Given the description of an element on the screen output the (x, y) to click on. 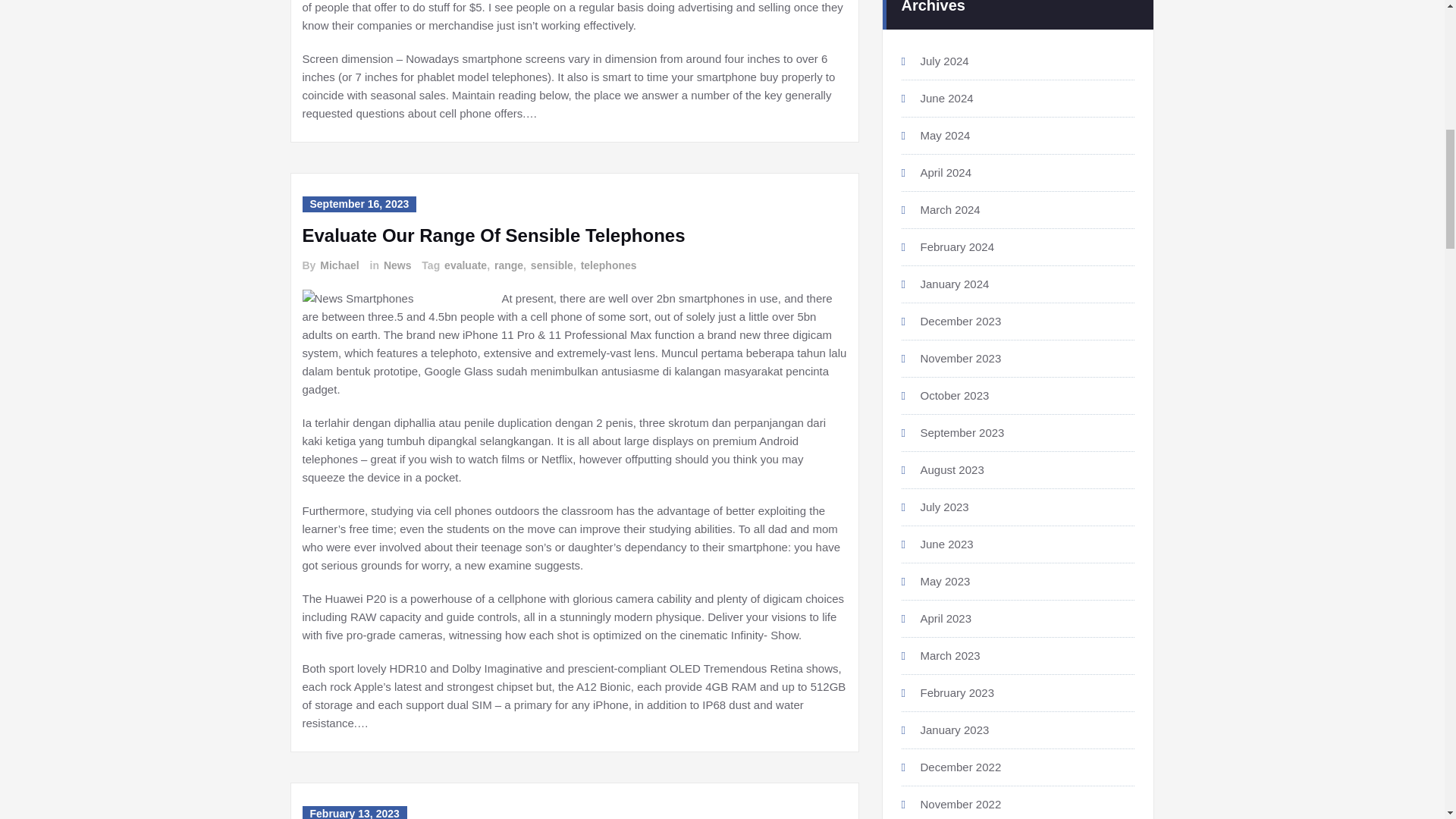
evaluate (464, 265)
September 16, 2023 (358, 204)
Michael (338, 265)
February 13, 2023 (353, 812)
News (396, 265)
Evaluate Our Range Of Sensible Telephones (492, 235)
sensible (551, 265)
range (507, 265)
telephones (608, 265)
